Given the description of an element on the screen output the (x, y) to click on. 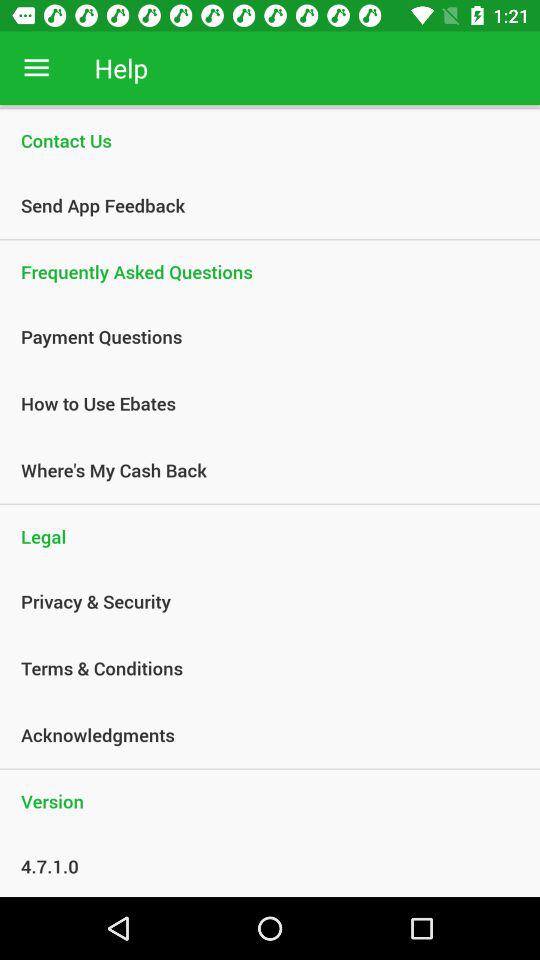
turn off the icon next to the help app (36, 68)
